Given the description of an element on the screen output the (x, y) to click on. 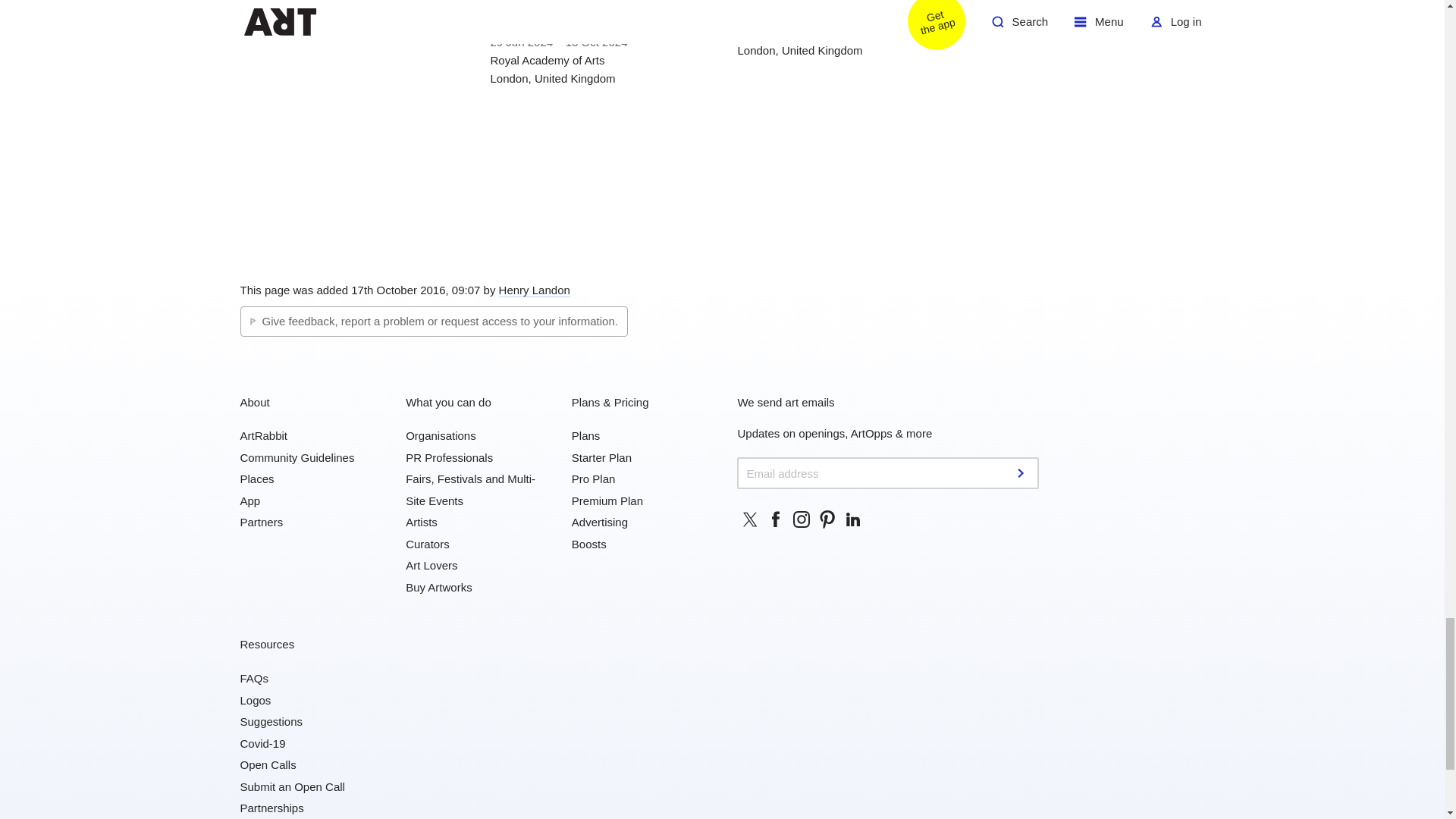
submit (1021, 472)
